Given the description of an element on the screen output the (x, y) to click on. 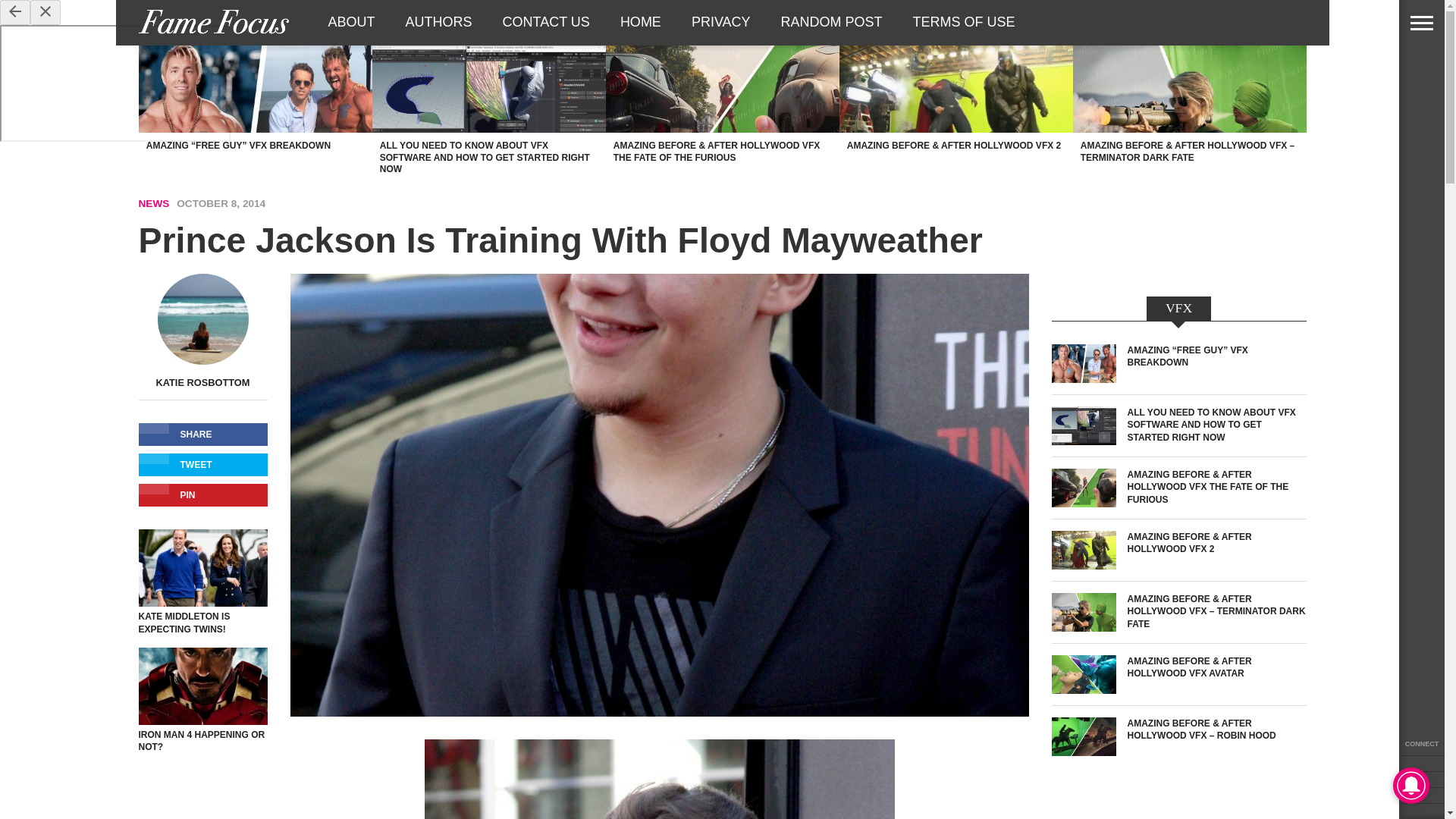
AUTHORS (438, 22)
KATIE ROSBOTTOM (202, 382)
ABOUT (351, 22)
CONTACT US (546, 22)
TERMS OF USE (964, 22)
HOME (641, 22)
Posts by Katie Rosbottom (202, 382)
NEWS (153, 203)
PRIVACY (721, 22)
RANDOM POST (831, 22)
Advertisement (1178, 814)
